Given the description of an element on the screen output the (x, y) to click on. 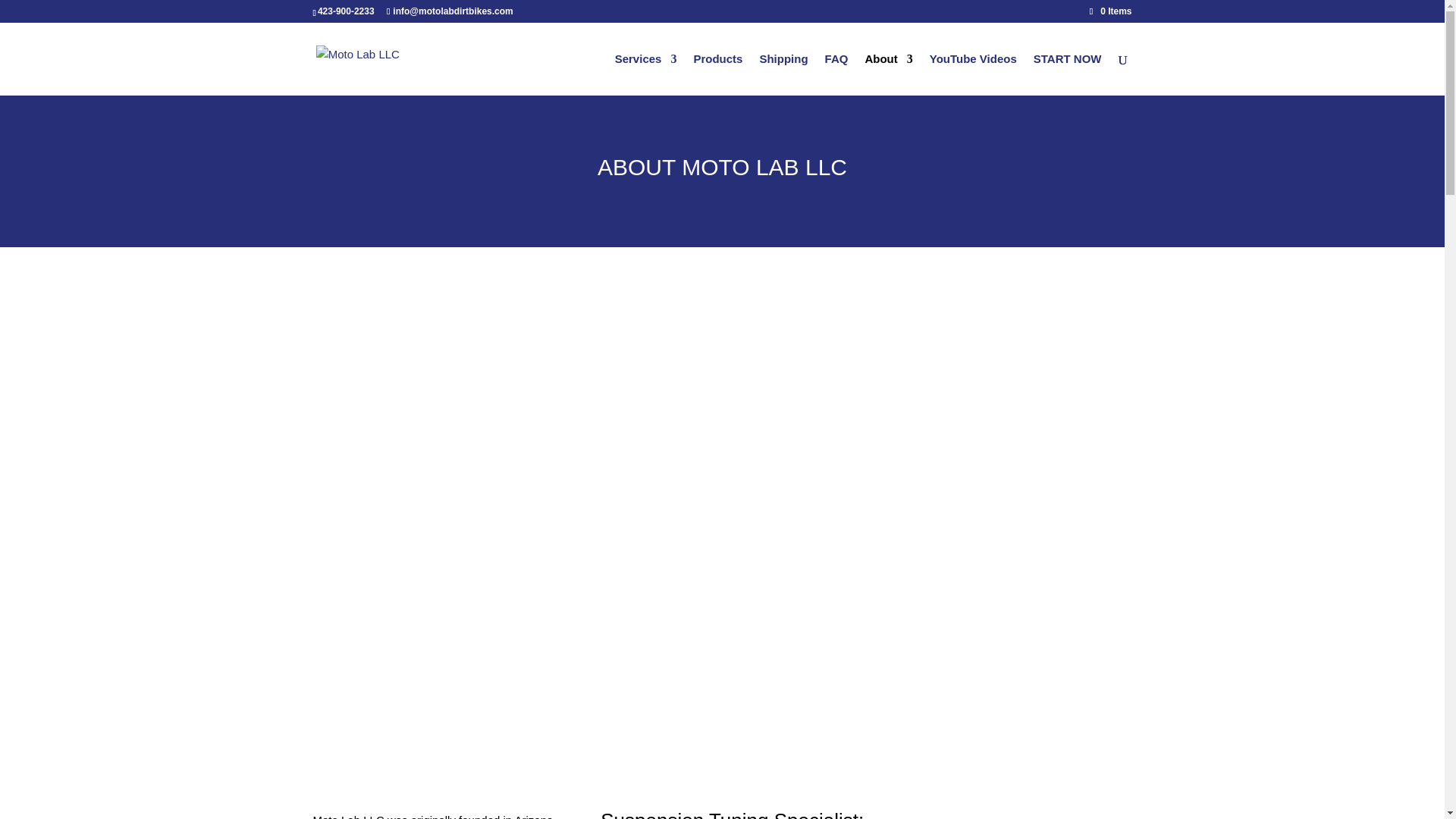
0 Items (1110, 10)
423-900-2233 (345, 10)
YouTube Videos (973, 74)
Products (717, 74)
Suspension Tuning (683, 814)
FAQ (836, 74)
START NOW (1067, 74)
Shipping (783, 74)
About (888, 74)
Services (645, 74)
